Given the description of an element on the screen output the (x, y) to click on. 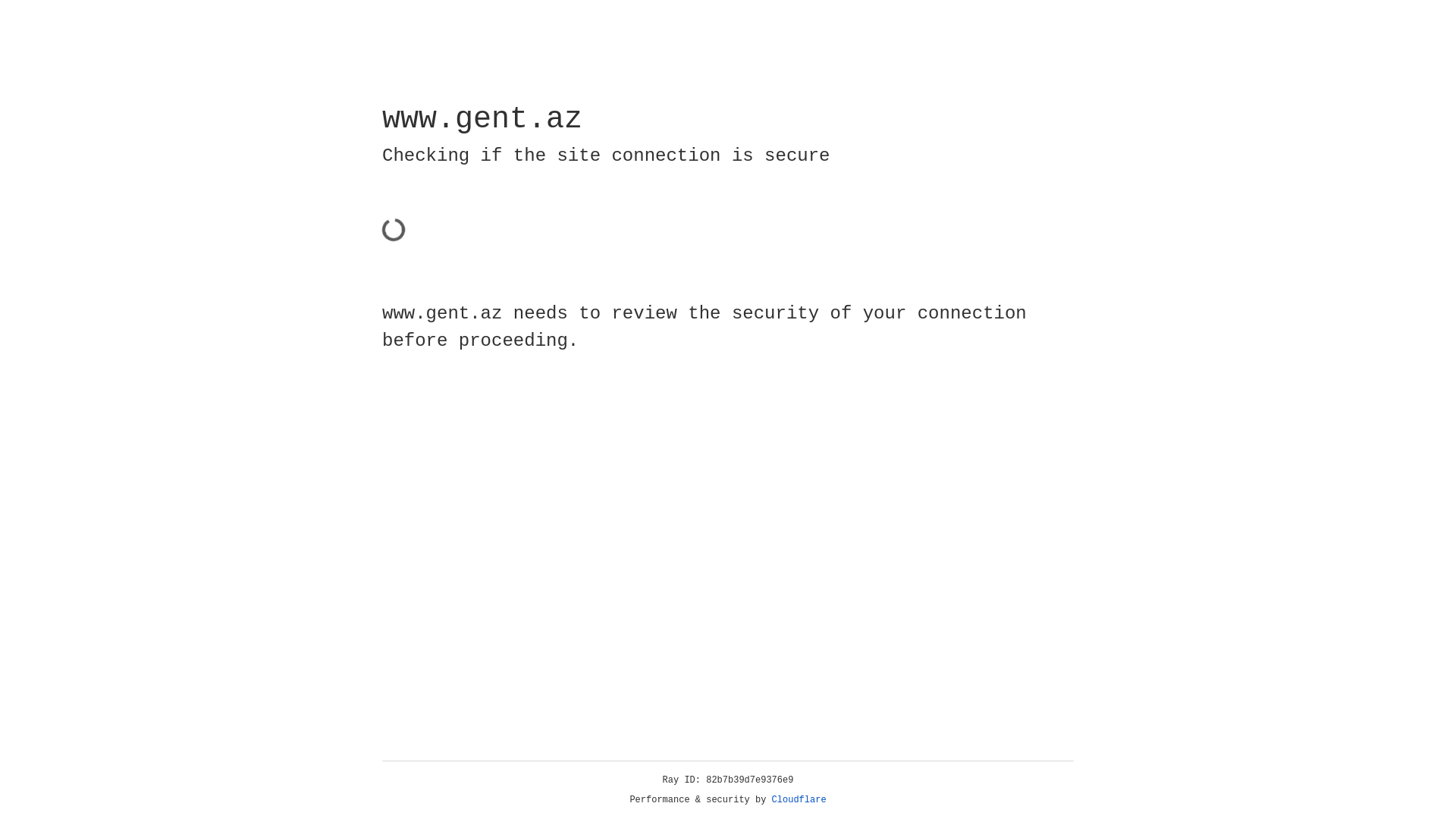
Cloudflare Element type: text (798, 799)
